Given the description of an element on the screen output the (x, y) to click on. 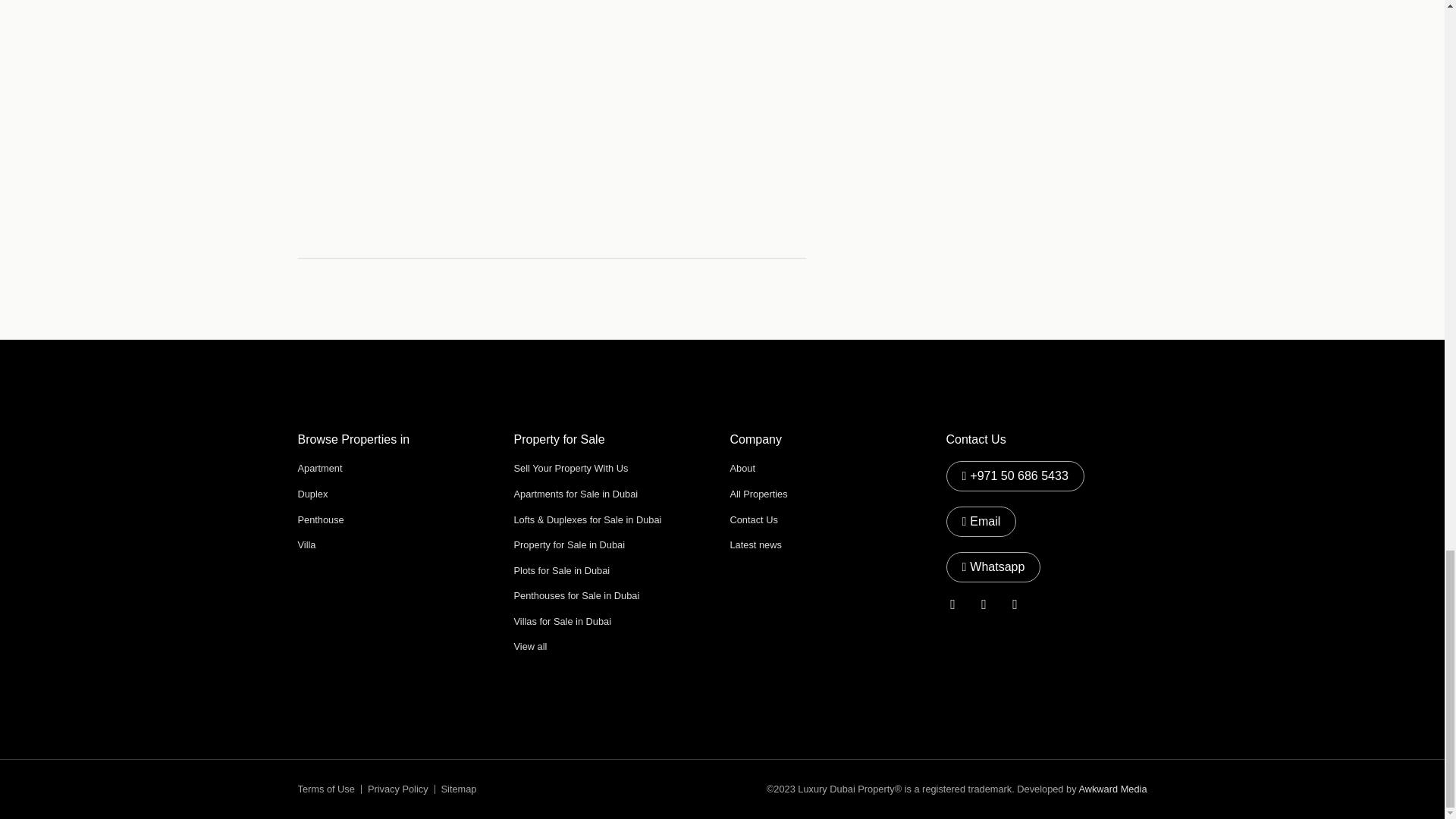
Apartment (319, 468)
Sell Your Property With Us (570, 468)
Villa (306, 544)
Jumeirah Golf Estates (551, 126)
Penthouse (320, 519)
Property for Sale in Dubai (569, 544)
Villas for Sale in Dubai  (563, 621)
Duplex (312, 493)
Plots for Sale in Dubai (561, 570)
View all (530, 645)
